Given the description of an element on the screen output the (x, y) to click on. 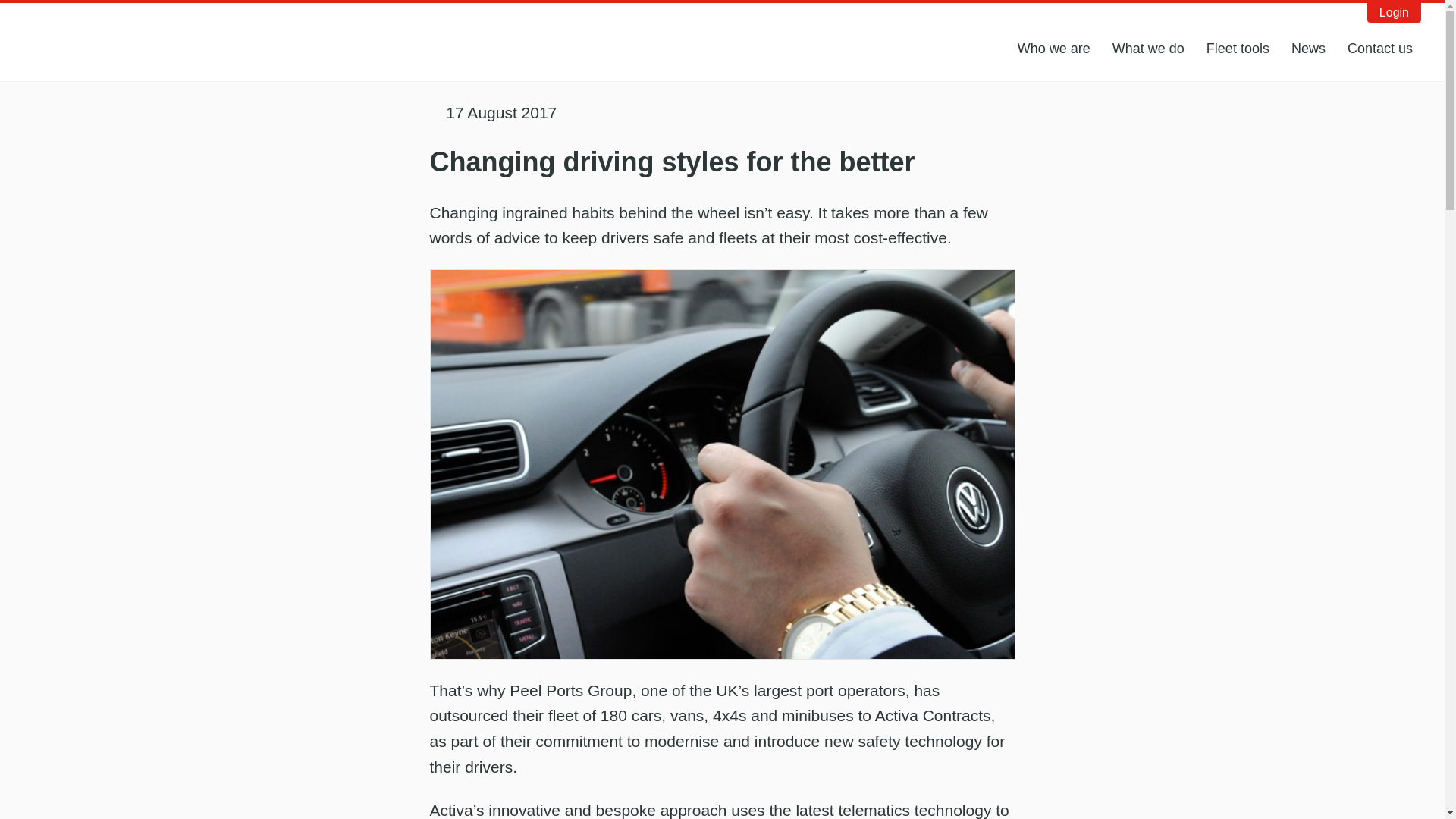
Contact us (1380, 48)
News (1308, 48)
Activa Contracts (109, 39)
Login (1394, 12)
